Given the description of an element on the screen output the (x, y) to click on. 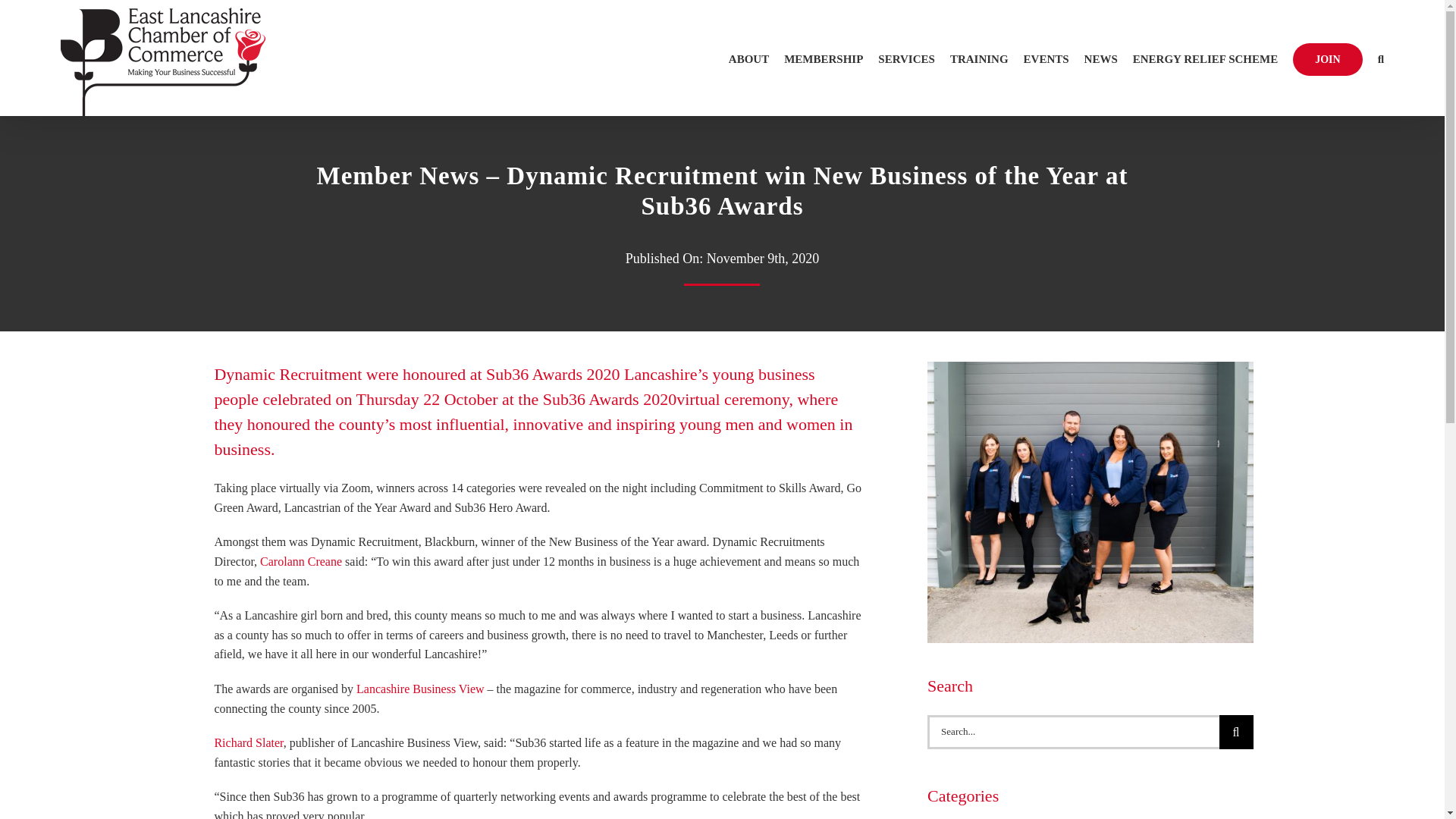
Dynamic Recruitment (1089, 367)
